Given the description of an element on the screen output the (x, y) to click on. 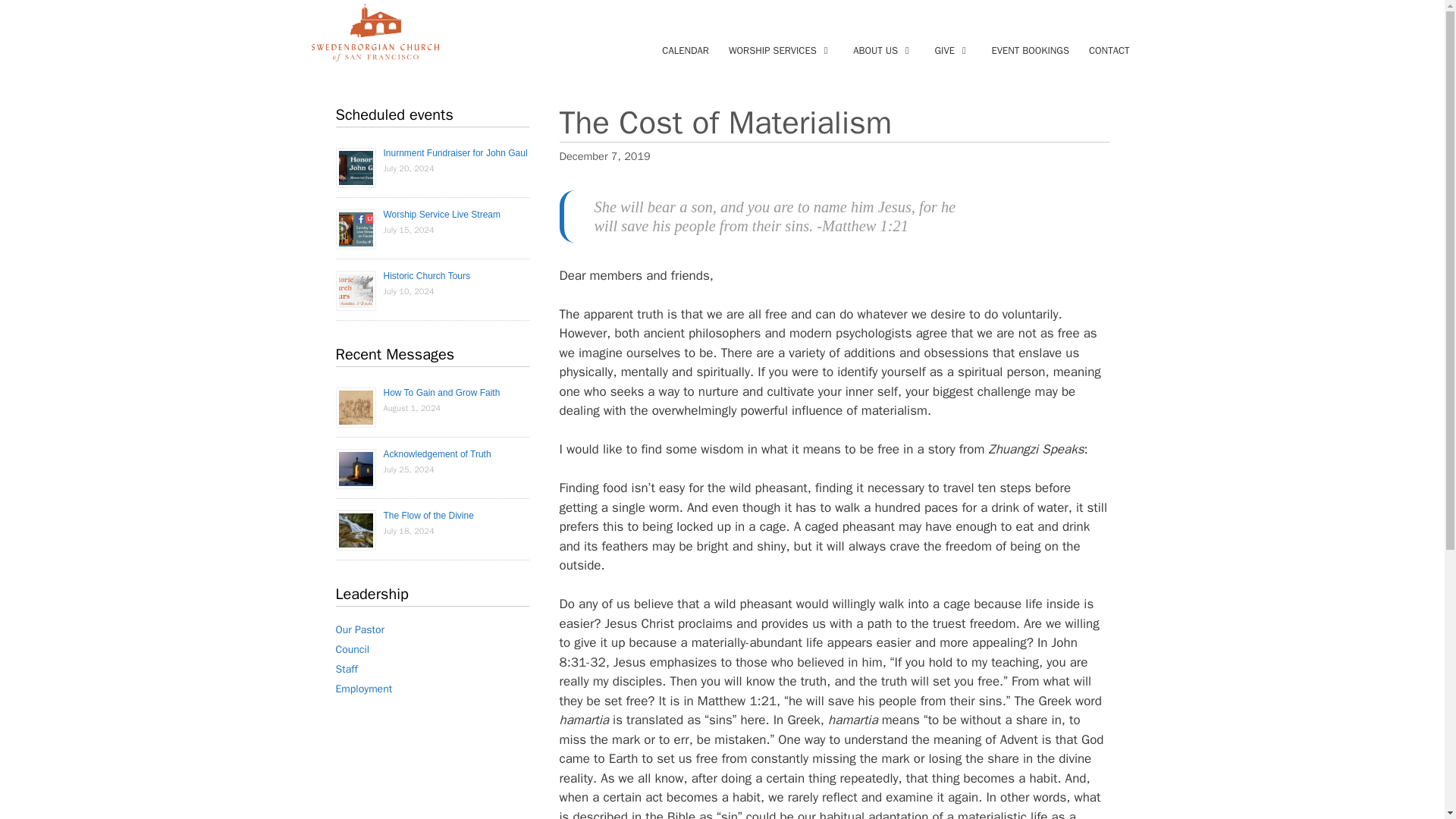
WORSHIP SERVICES (781, 50)
GIVE (952, 50)
EVENT BOOKINGS (1029, 50)
ABOUT US (883, 50)
CALENDAR (685, 50)
CONTACT (1109, 50)
